Given the description of an element on the screen output the (x, y) to click on. 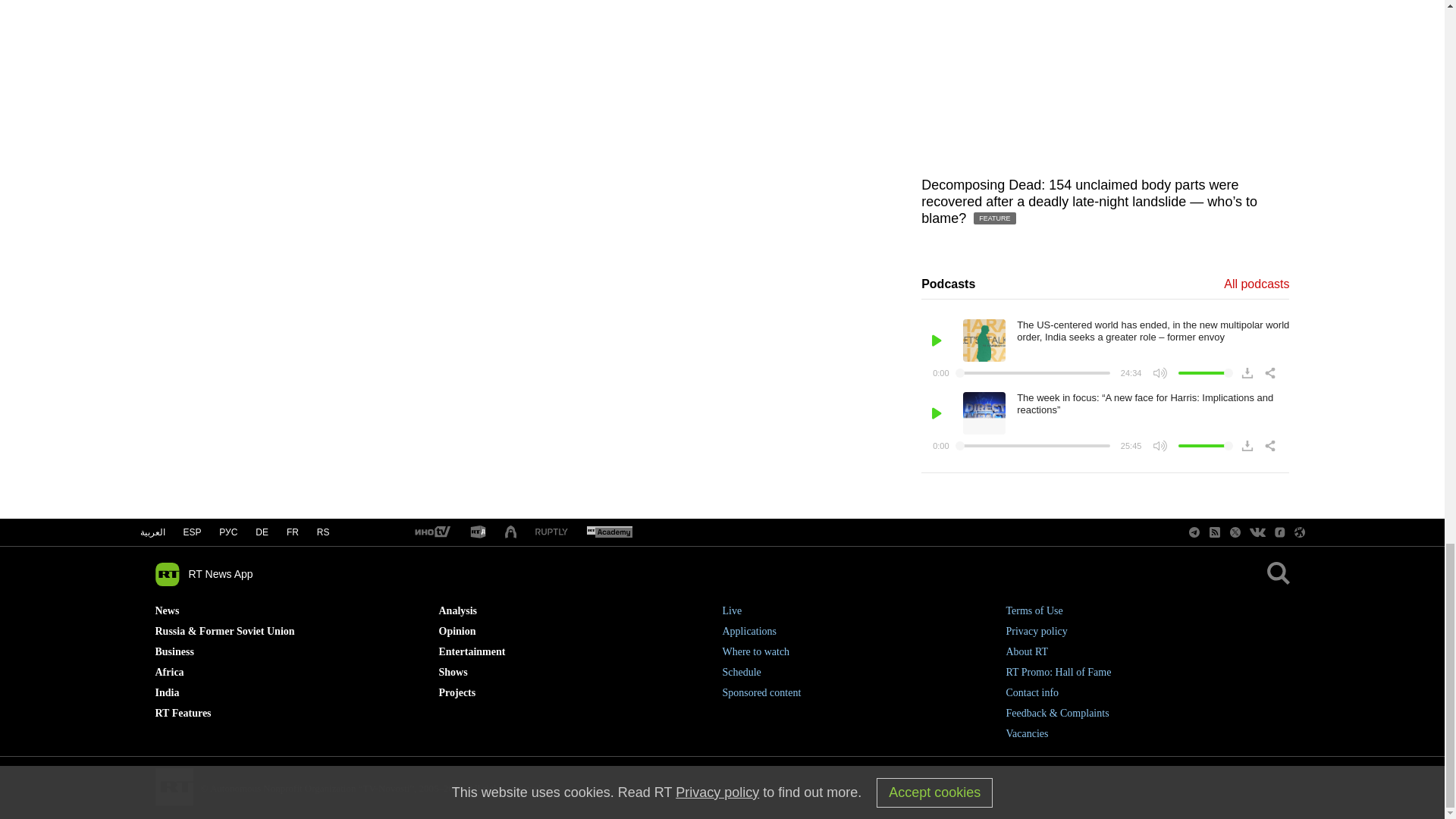
RT  (431, 532)
RT  (478, 532)
RT  (551, 532)
RT  (608, 532)
